Given the description of an element on the screen output the (x, y) to click on. 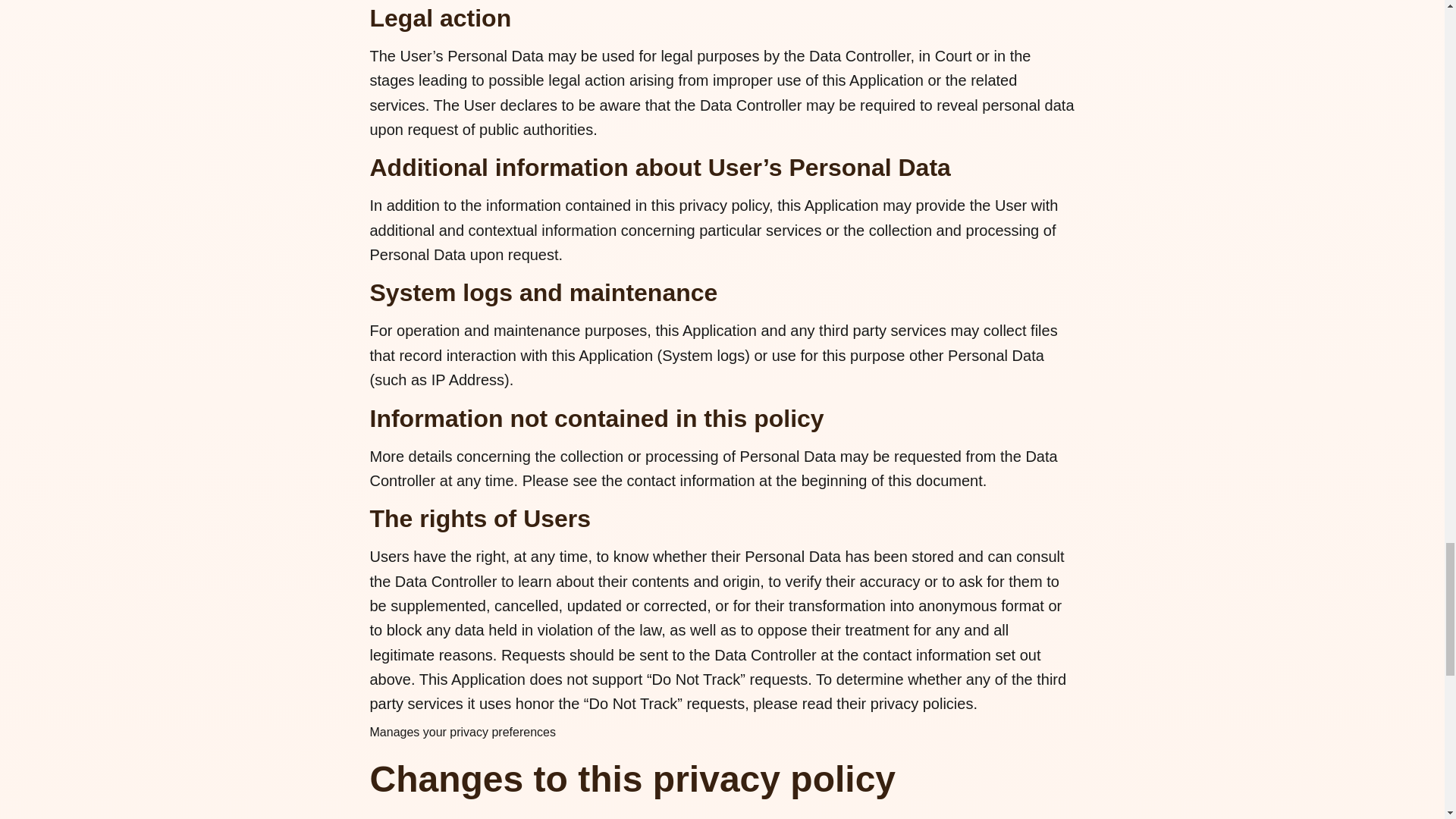
Manages your privacy preferences (462, 731)
